Given the description of an element on the screen output the (x, y) to click on. 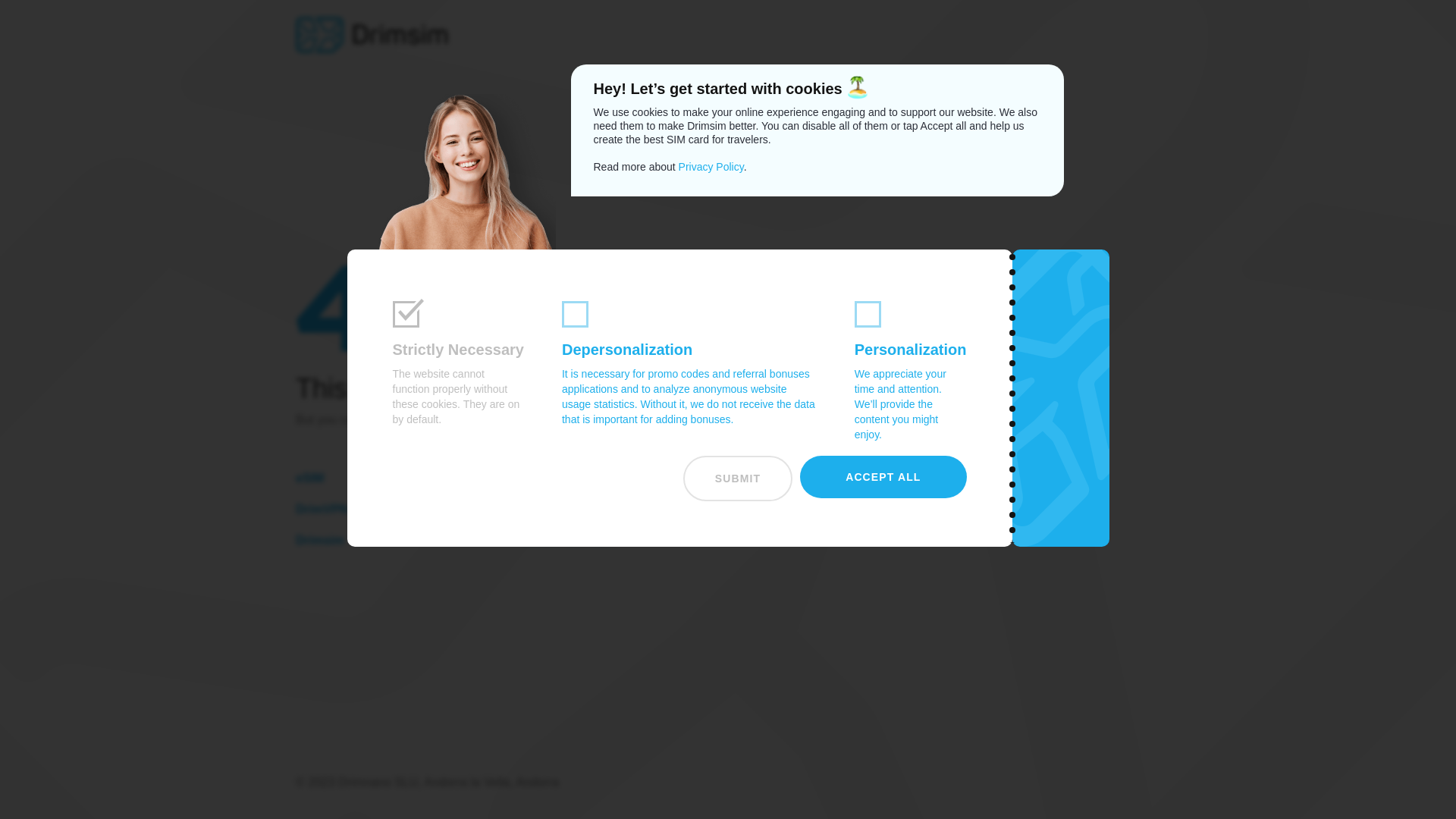
ACCEPT ALL (882, 476)
Drimsim (408, 540)
Privacy Policy (711, 166)
Rates (636, 477)
DrimVPN (408, 508)
FAQ (864, 477)
Return SIM card (636, 540)
SUBMIT (737, 478)
eSIM (408, 477)
